Given the description of an element on the screen output the (x, y) to click on. 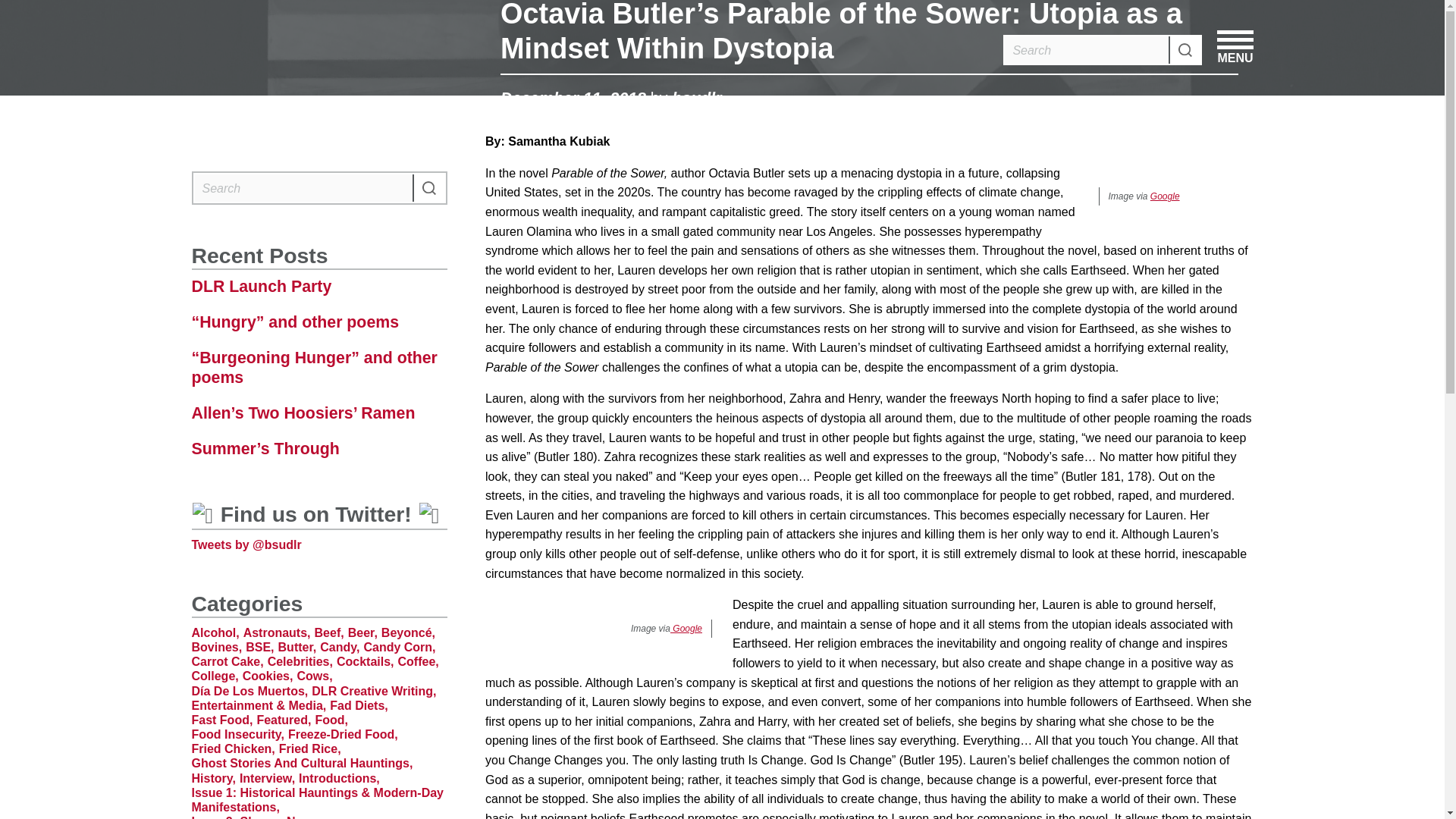
Cocktails (365, 661)
Fad Diets (358, 705)
Butter (297, 646)
Alcohol (214, 632)
DLR Launch Party (318, 287)
search-submit (428, 187)
Candy Corn (398, 646)
Beef (328, 632)
search-submit (1184, 49)
Beer (362, 632)
